Given the description of an element on the screen output the (x, y) to click on. 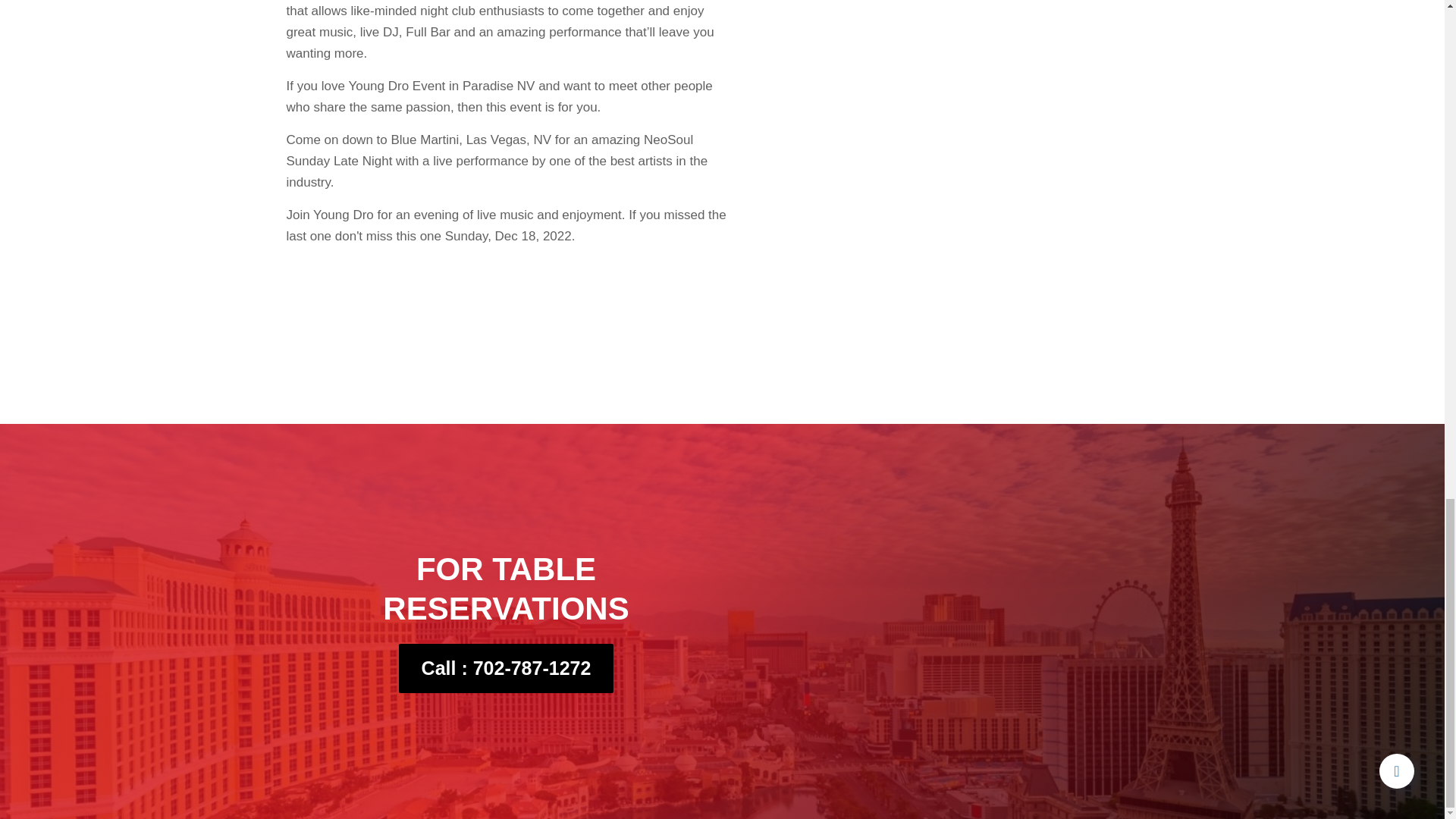
Call : 702-787-1272 (506, 667)
